Given the description of an element on the screen output the (x, y) to click on. 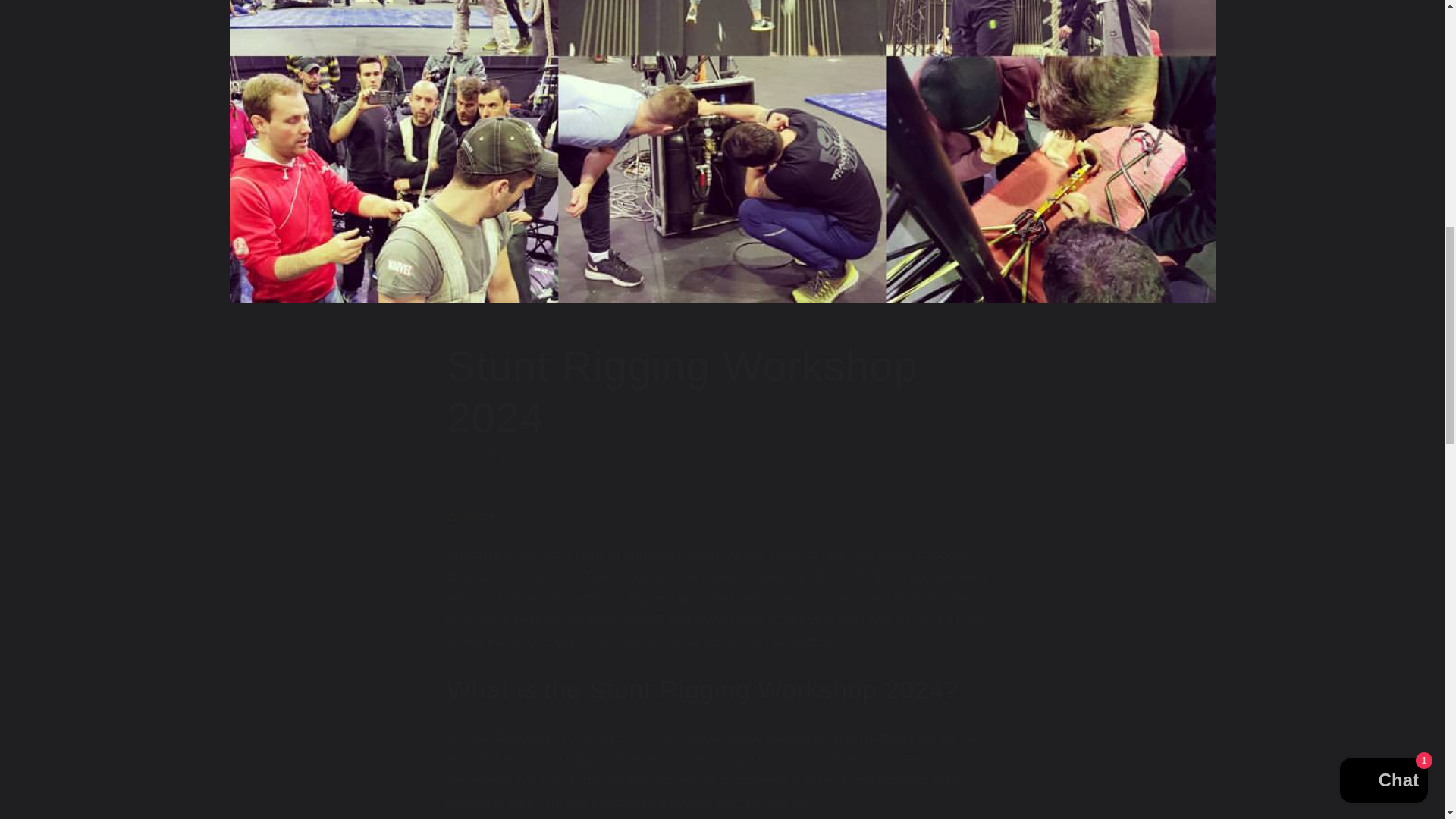
Share (721, 516)
